Given the description of an element on the screen output the (x, y) to click on. 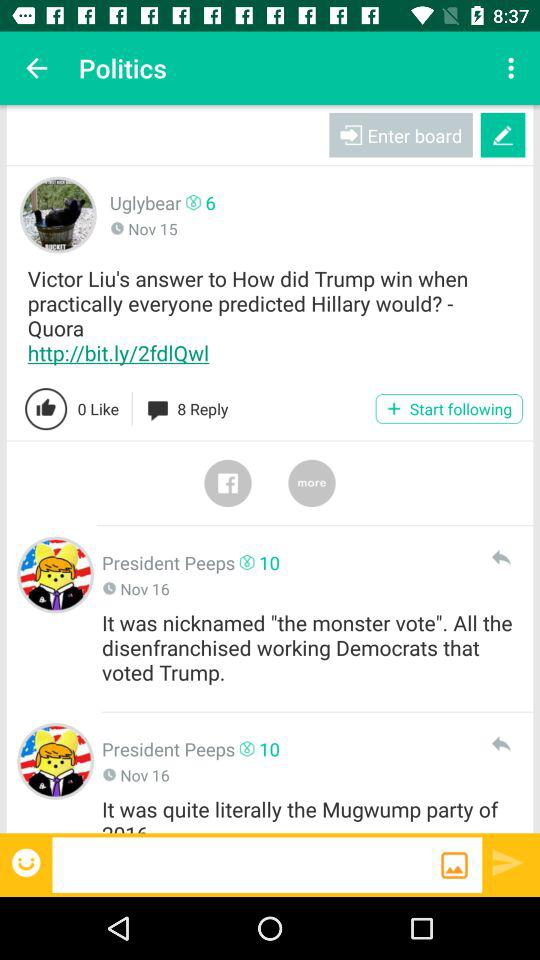
reply to status (500, 744)
